Given the description of an element on the screen output the (x, y) to click on. 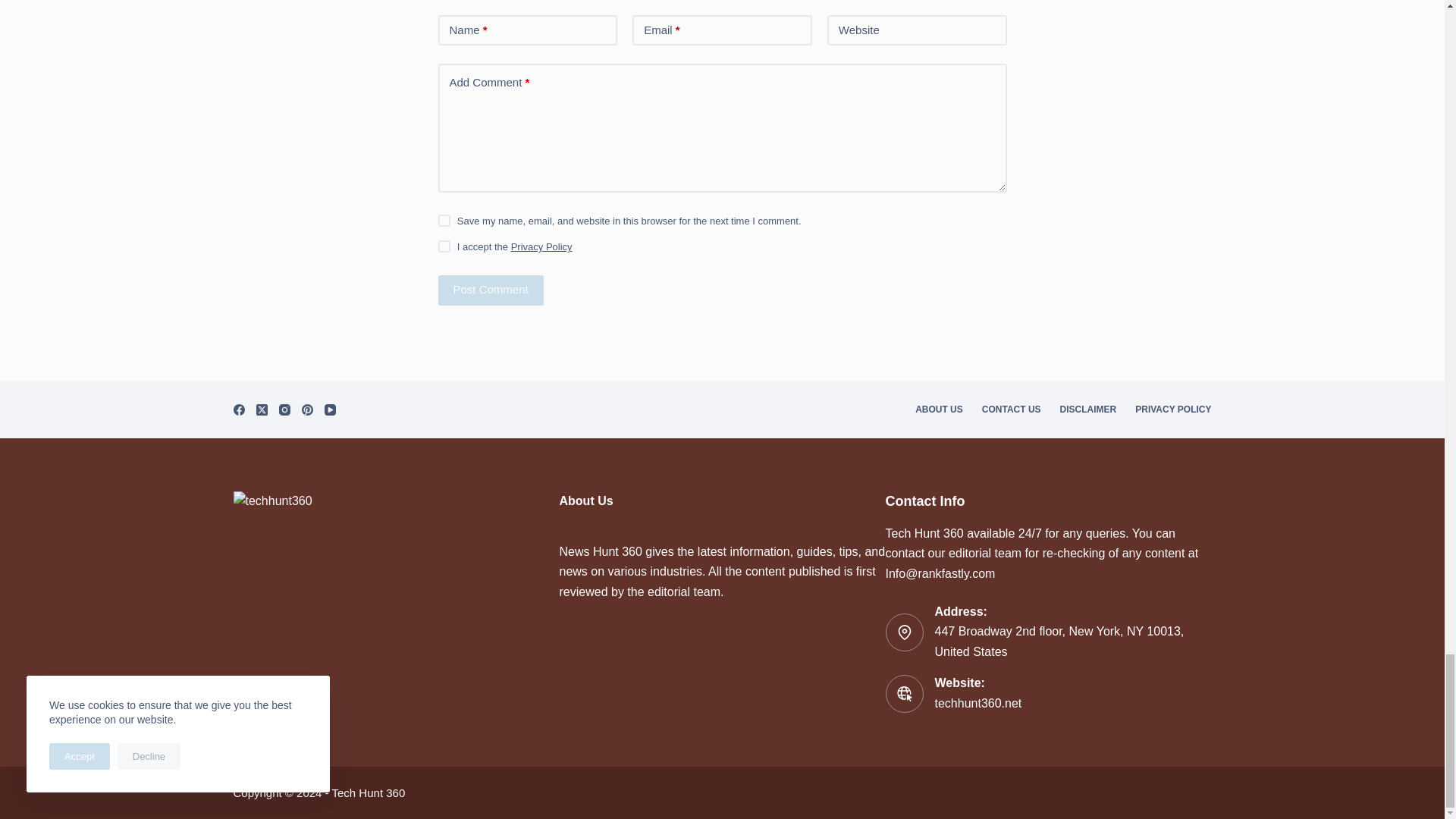
on (443, 246)
yes (443, 220)
